Given the description of an element on the screen output the (x, y) to click on. 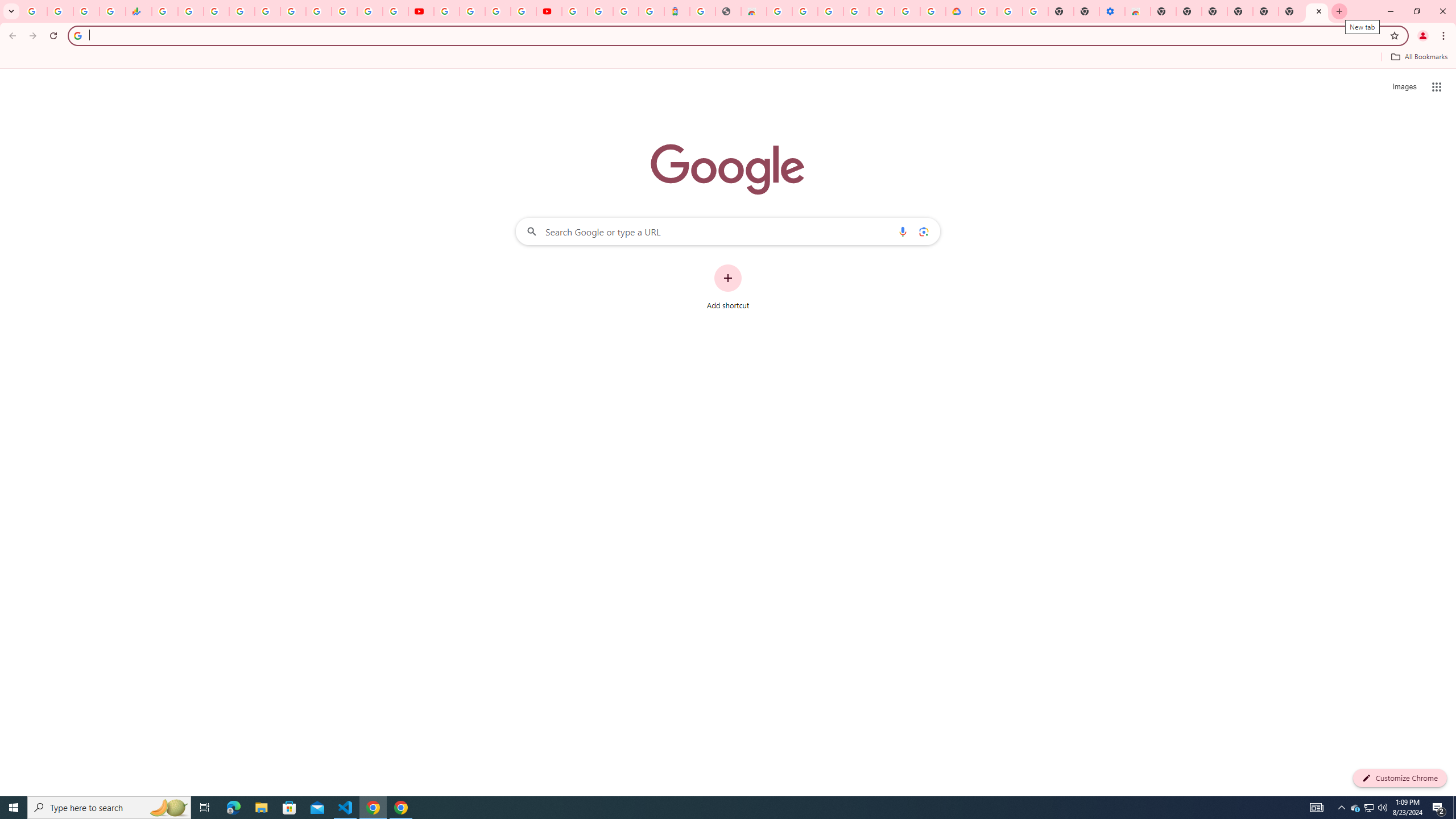
Google Workspace Admin Community (34, 11)
Google Account Help (1009, 11)
Chrome Web Store - Household (753, 11)
Chrome Web Store - Accessibility extensions (1137, 11)
Create your Google Account (497, 11)
